Given the description of an element on the screen output the (x, y) to click on. 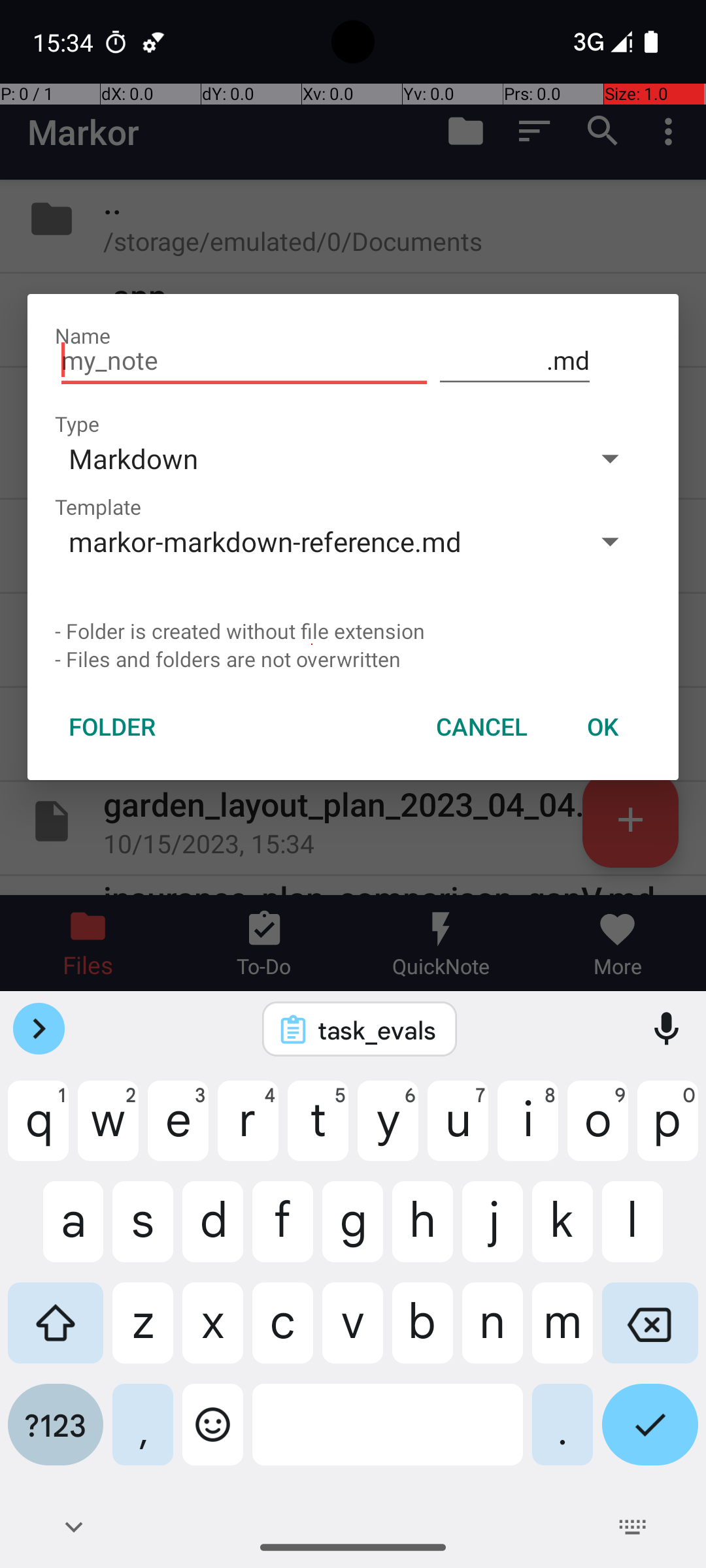
markor-markdown-reference.md Element type: android.widget.TextView (311, 540)
task_evals Element type: android.widget.TextView (376, 1029)
